Given the description of an element on the screen output the (x, y) to click on. 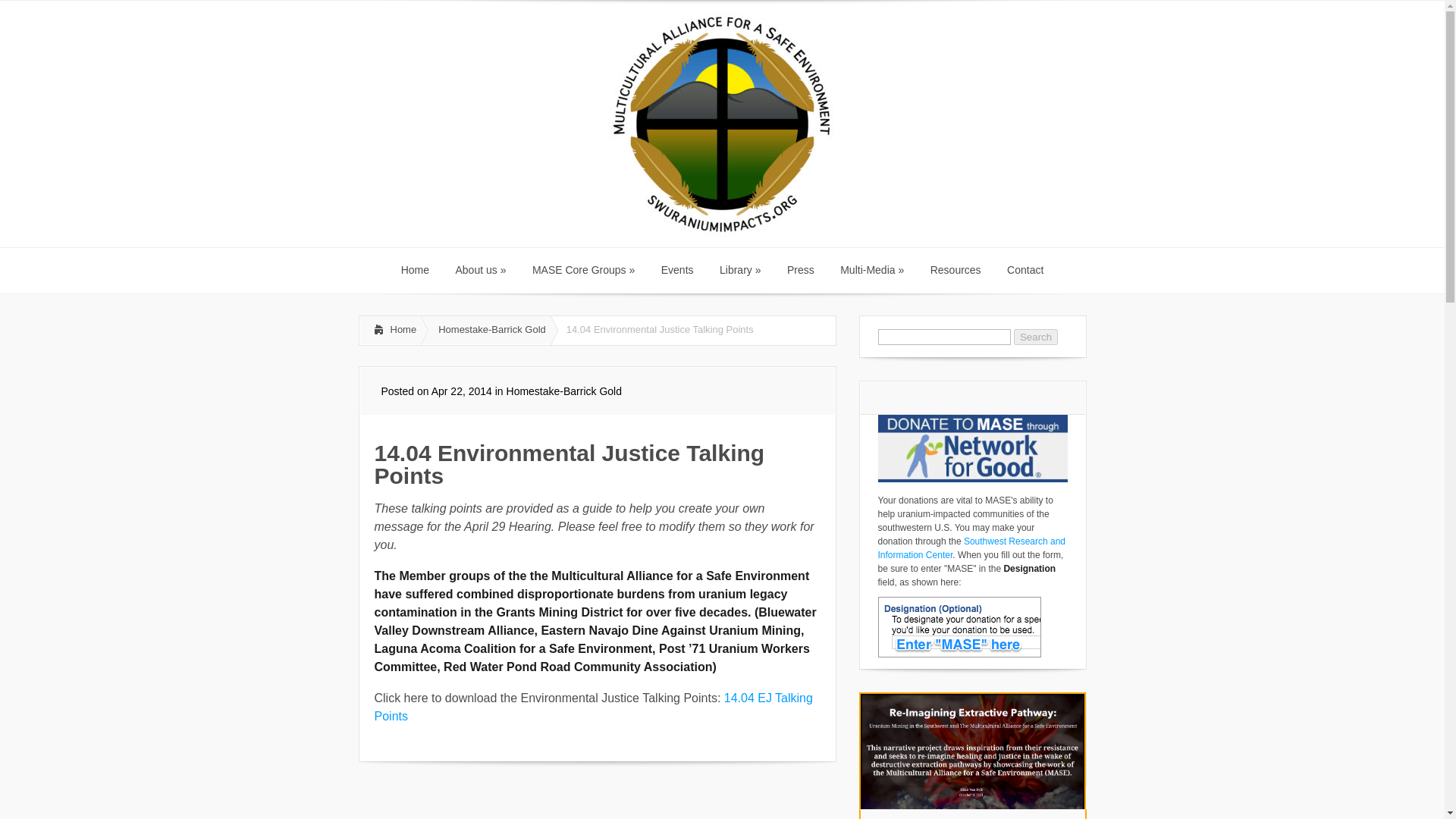
Search (1035, 336)
